Given the description of an element on the screen output the (x, y) to click on. 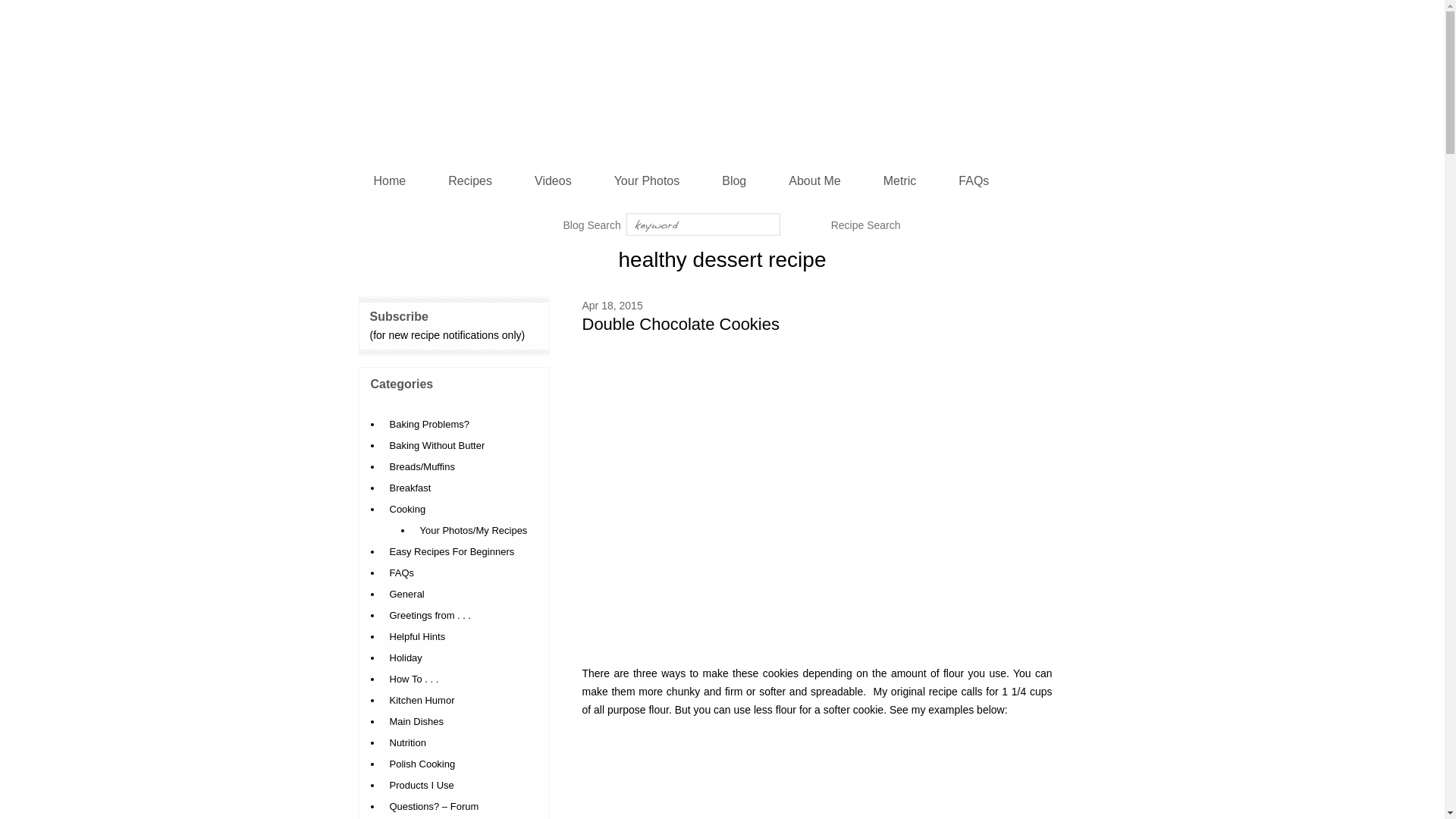
Your Photos (646, 180)
About Me (814, 180)
pinterest (1396, 327)
Search (795, 223)
Search (1074, 223)
Double Chocolate Cookies (681, 323)
Search (1074, 223)
Search (795, 223)
youtube (1396, 294)
Recipes (470, 180)
